Given the description of an element on the screen output the (x, y) to click on. 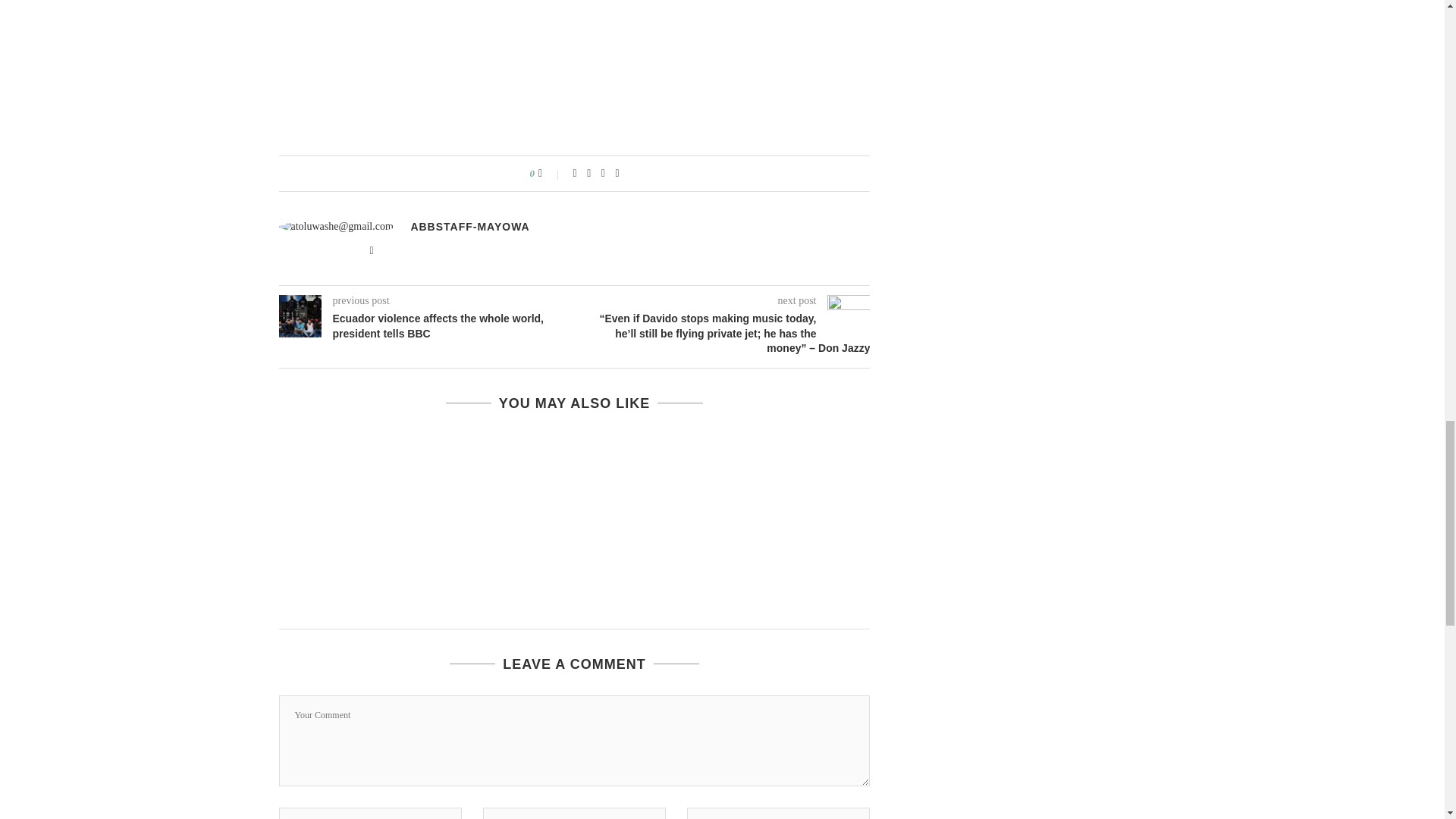
Posts by ABBStaff-Mayowa (469, 226)
Like (550, 173)
